Given the description of an element on the screen output the (x, y) to click on. 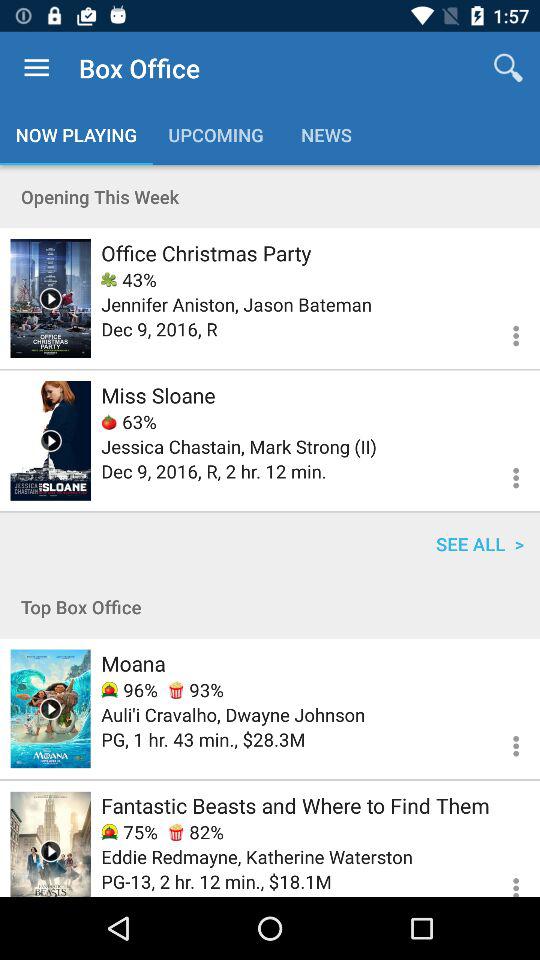
tap item next to the 75% icon (195, 831)
